Given the description of an element on the screen output the (x, y) to click on. 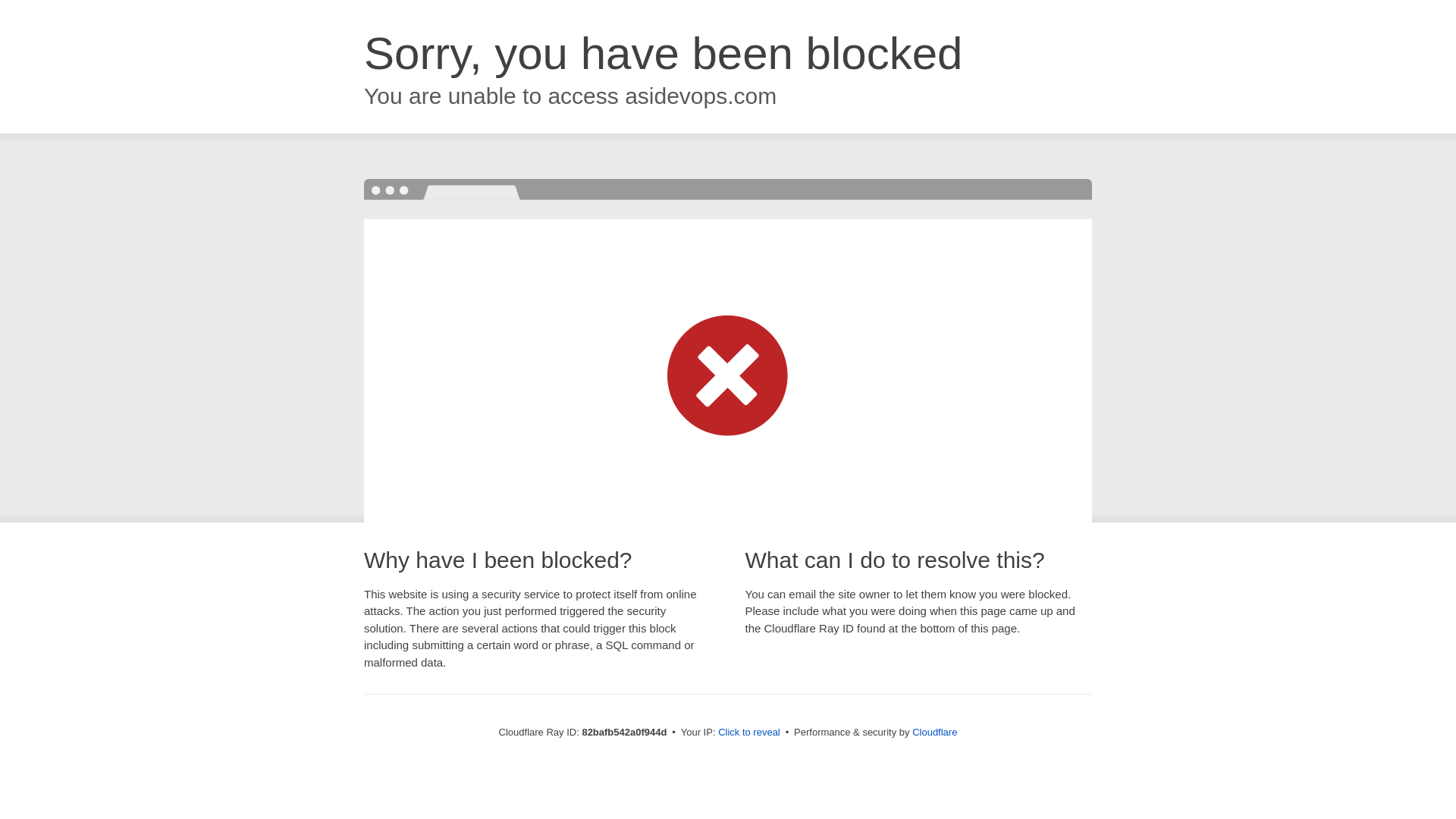
Click to reveal Element type: text (749, 732)
Cloudflare Element type: text (934, 731)
